Given the description of an element on the screen output the (x, y) to click on. 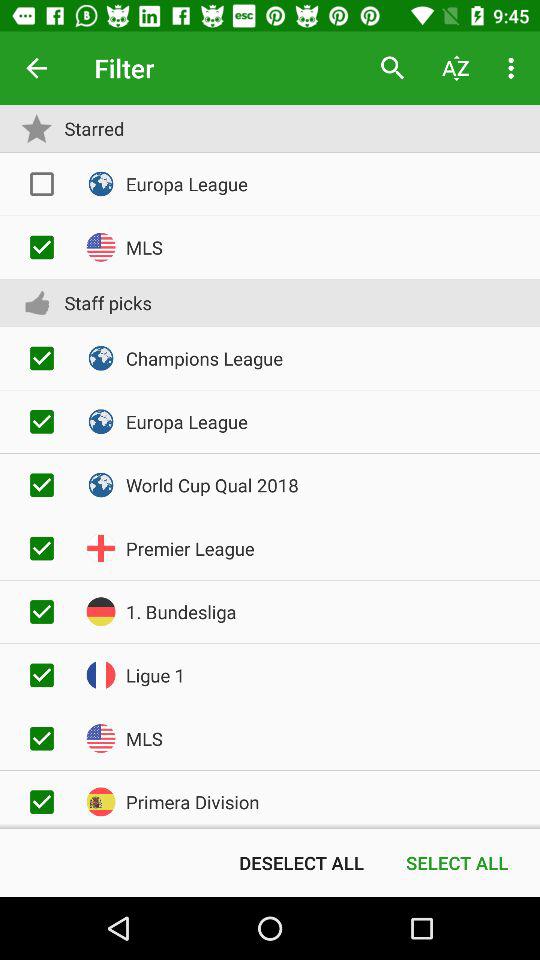
jump until deselect all icon (301, 862)
